Given the description of an element on the screen output the (x, y) to click on. 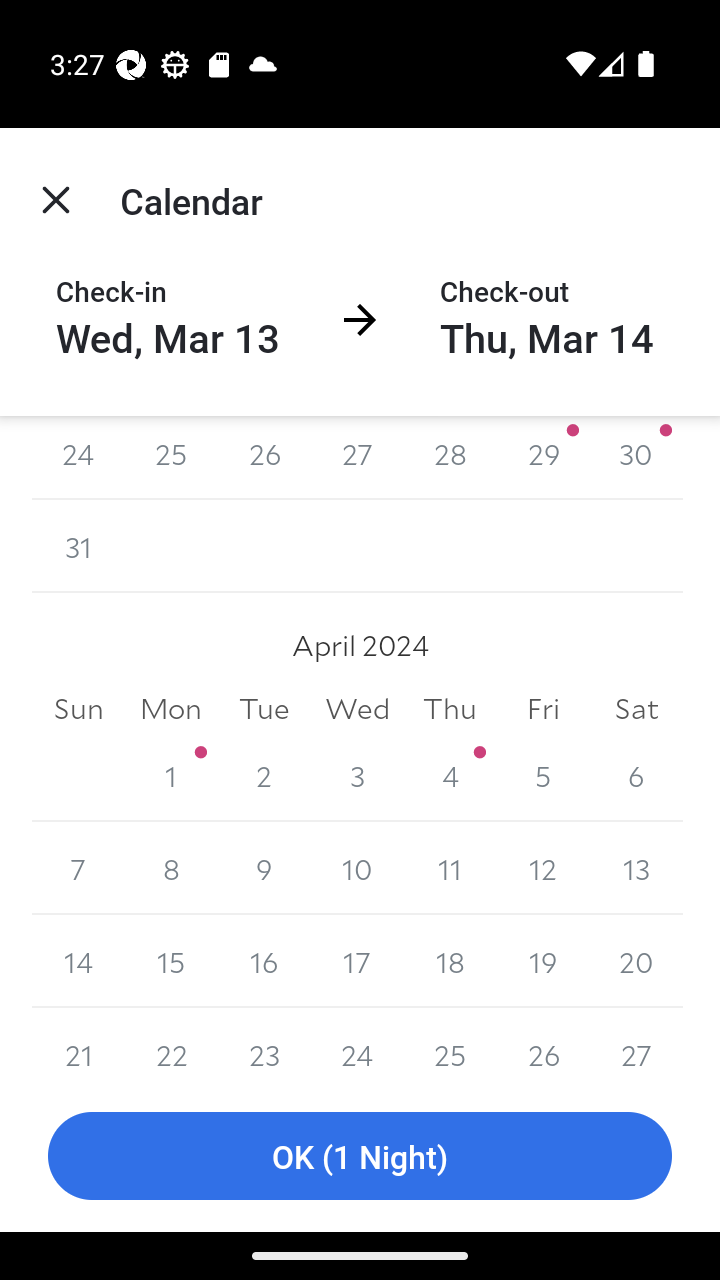
24 24 March 2024 (78, 458)
25 25 March 2024 (171, 458)
26 26 March 2024 (264, 458)
27 27 March 2024 (357, 458)
28 28 March 2024 (449, 458)
29 29 March 2024 (542, 458)
30 30 March 2024 (636, 458)
31 31 March 2024 (78, 546)
Sun (78, 708)
Mon (171, 708)
Tue (264, 708)
Wed (357, 708)
Thu (449, 708)
Fri (542, 708)
Sat (636, 708)
1 1 April 2024 (171, 775)
2 2 April 2024 (264, 775)
3 3 April 2024 (357, 775)
4 4 April 2024 (449, 775)
5 5 April 2024 (542, 775)
6 6 April 2024 (636, 775)
7 7 April 2024 (78, 868)
8 8 April 2024 (171, 868)
9 9 April 2024 (264, 868)
10 10 April 2024 (357, 868)
11 11 April 2024 (449, 868)
12 12 April 2024 (542, 868)
13 13 April 2024 (636, 868)
14 14 April 2024 (78, 961)
15 15 April 2024 (171, 961)
16 16 April 2024 (264, 961)
17 17 April 2024 (357, 961)
18 18 April 2024 (449, 961)
19 19 April 2024 (542, 961)
20 20 April 2024 (636, 961)
21 21 April 2024 (78, 1044)
22 22 April 2024 (171, 1044)
23 23 April 2024 (264, 1044)
24 24 April 2024 (357, 1044)
25 25 April 2024 (449, 1044)
26 26 April 2024 (542, 1044)
27 27 April 2024 (636, 1044)
OK (1 Night) (359, 1156)
